Given the description of an element on the screen output the (x, y) to click on. 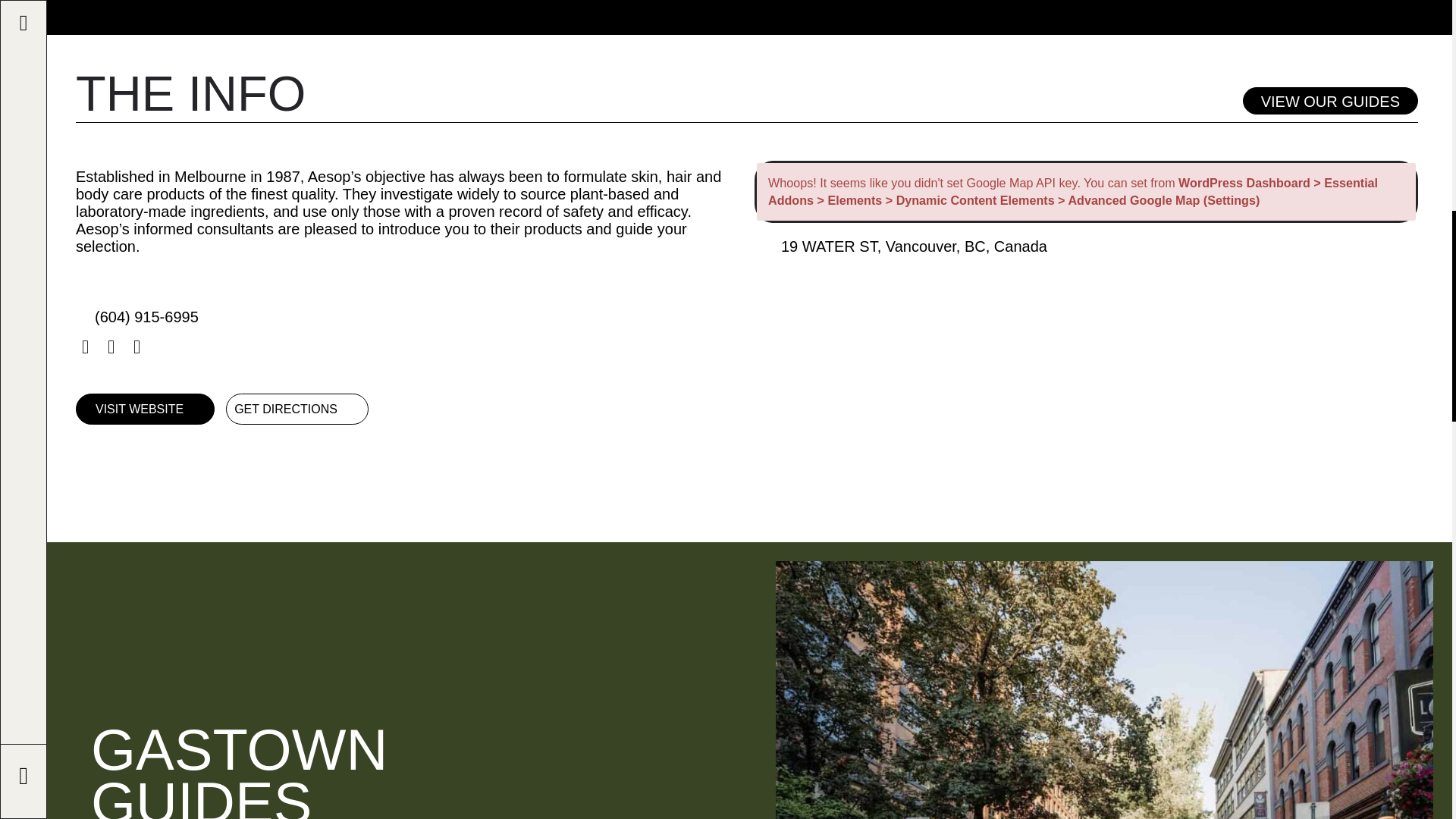
VISIT WEBSITE (144, 409)
GET DIRECTIONS (296, 409)
VIEW OUR GUIDES (1330, 100)
